Given the description of an element on the screen output the (x, y) to click on. 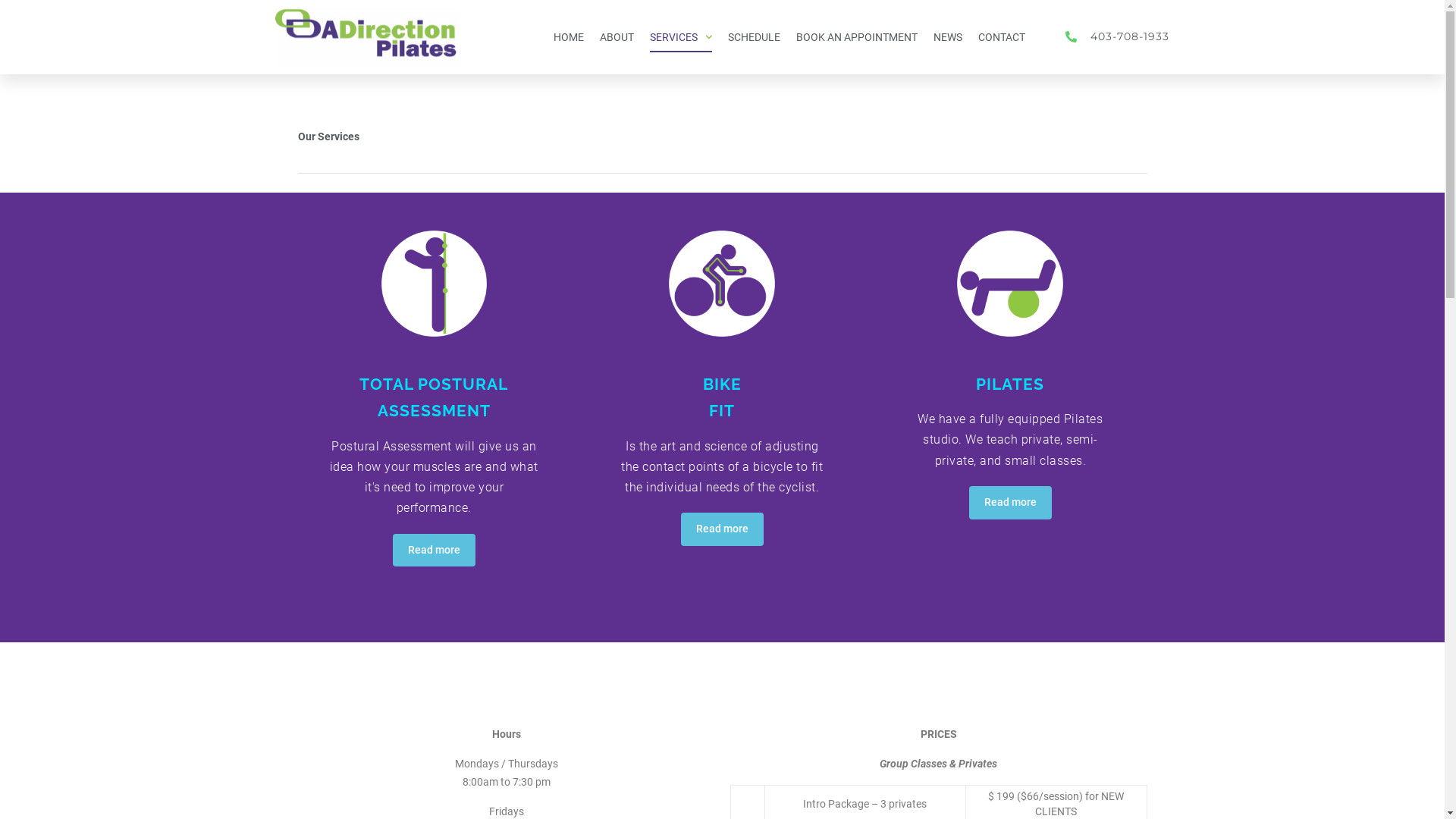
SCHEDULE Element type: text (754, 36)
BOOK AN APPOINTMENT Element type: text (856, 36)
CONTACT Element type: text (1001, 36)
NEWS Element type: text (947, 36)
HOME Element type: text (568, 36)
TOTAL POSTURAL ASSESSMENT Element type: text (433, 397)
PILATES Element type: text (1009, 383)
Read more Element type: text (1010, 502)
SERVICES Element type: text (680, 36)
Read more Element type: text (433, 550)
BIKE
FIT Element type: text (721, 397)
Read more Element type: text (721, 529)
ABOUT Element type: text (616, 36)
403-708-1933 Element type: text (1108, 37)
LogoCompleto_Pilates Element type: hover (366, 36)
